Given the description of an element on the screen output the (x, y) to click on. 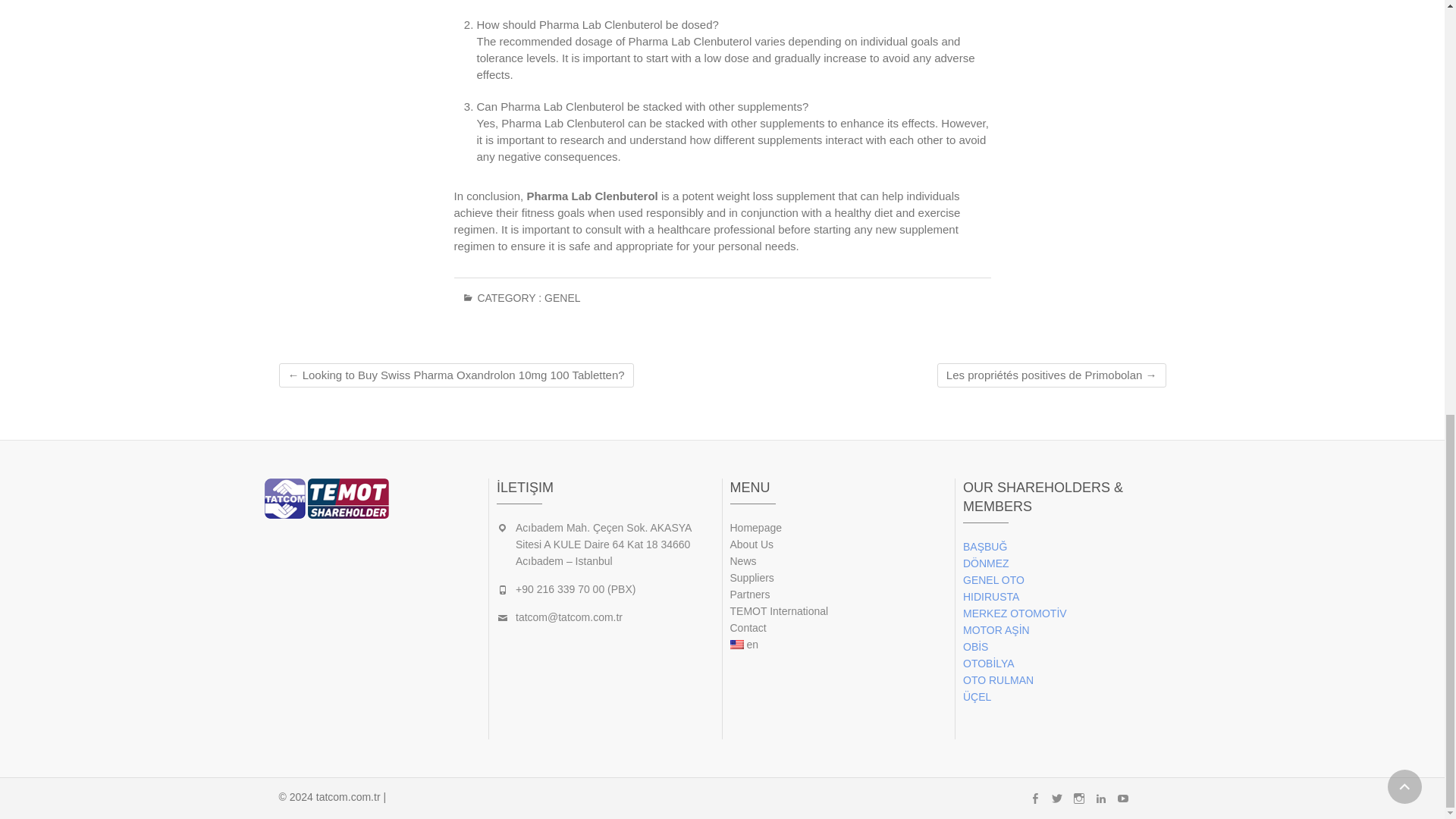
GENEL (561, 303)
tatcom.com.tr (347, 797)
Suppliers (838, 577)
News (838, 560)
en (838, 644)
Homepage (838, 527)
About Us (838, 544)
TEMOT International (838, 610)
Contact (838, 627)
Partners (838, 594)
